Given the description of an element on the screen output the (x, y) to click on. 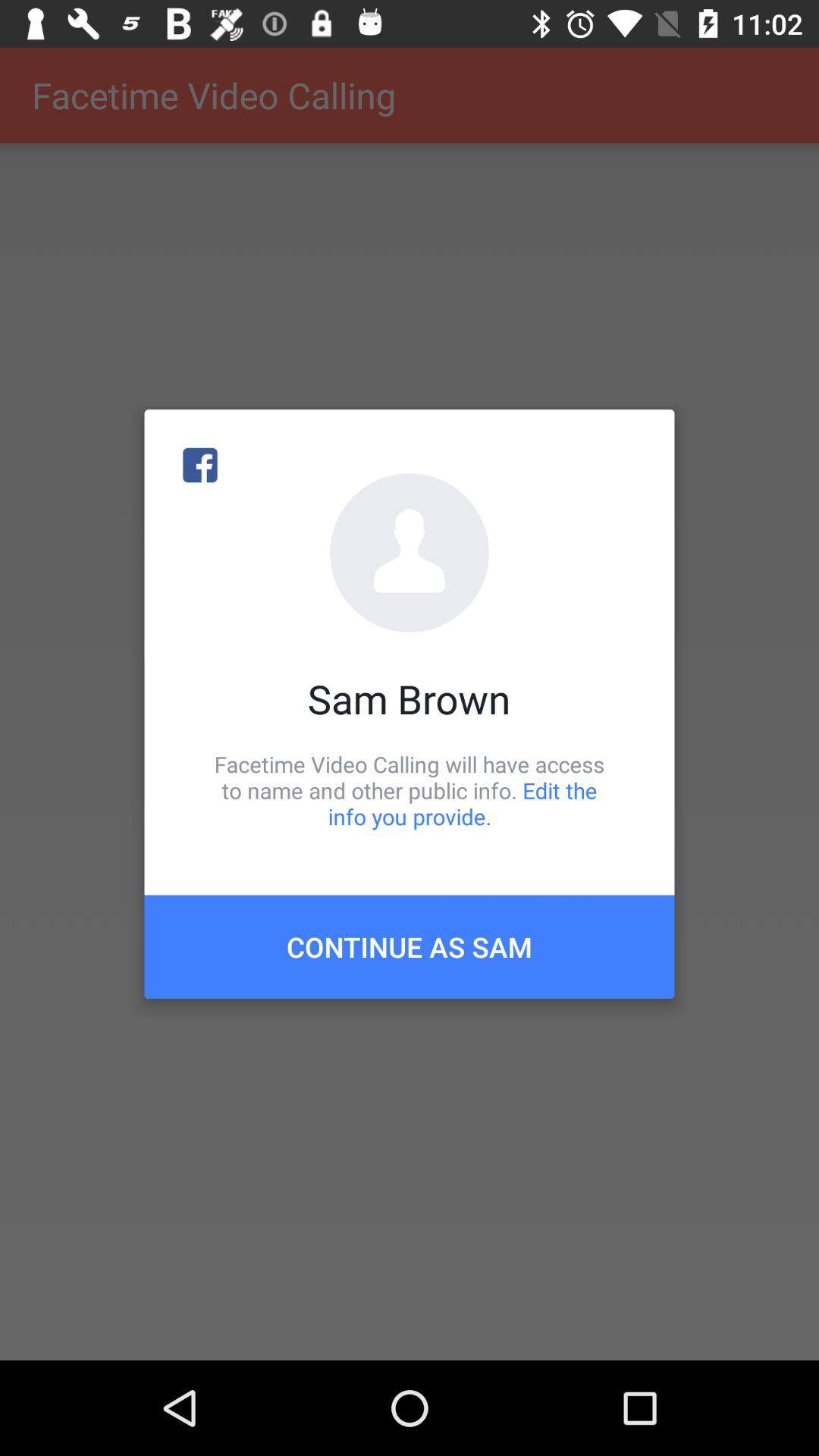
launch the item below facetime video calling item (409, 946)
